Given the description of an element on the screen output the (x, y) to click on. 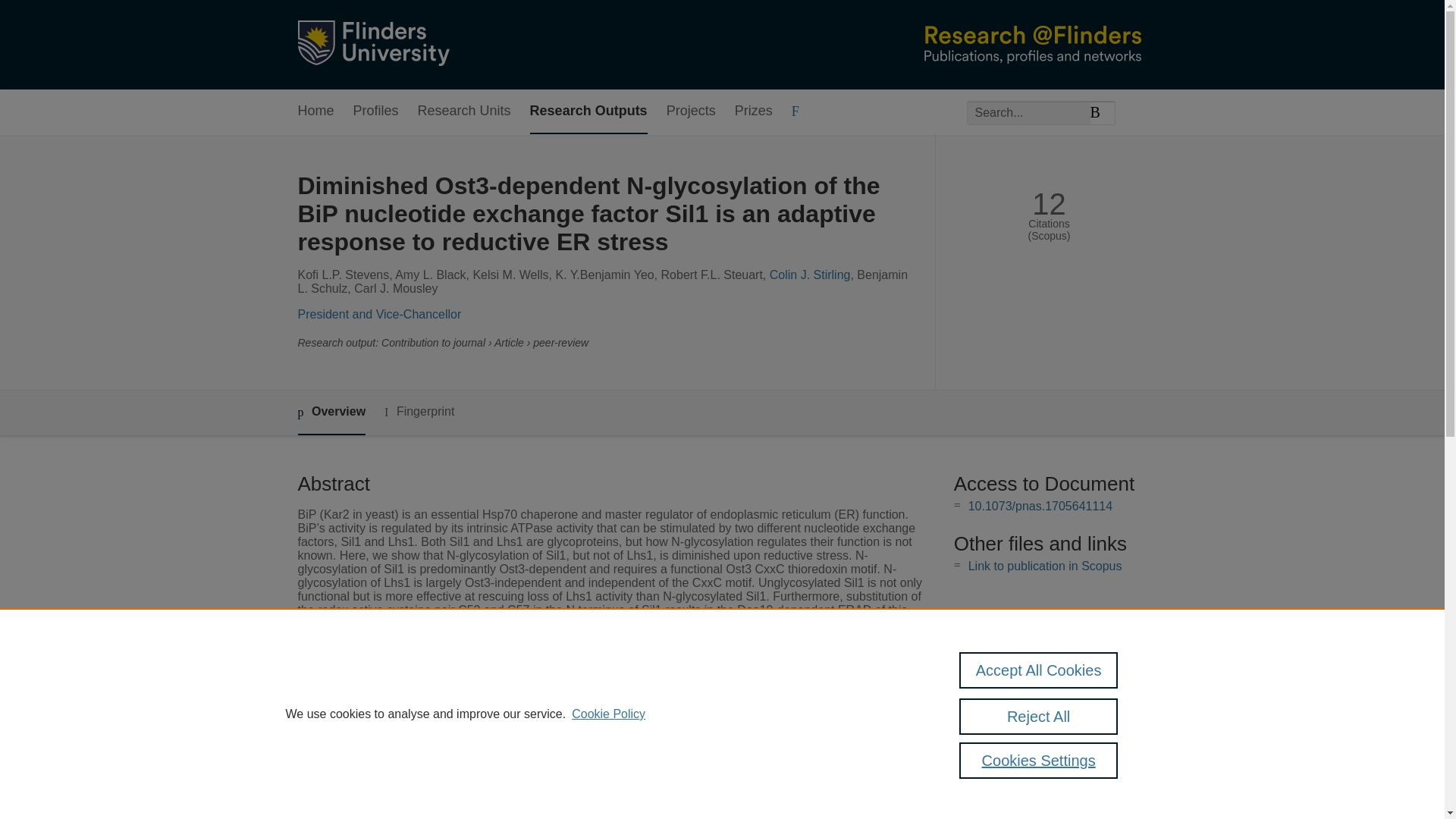
Research Outputs (588, 111)
Research Units (464, 111)
Colin J. Stirling (810, 274)
Fingerprint (419, 412)
Profiles (375, 111)
President and Vice-Chancellor (379, 314)
Link to publication in Scopus (1045, 565)
Projects (691, 111)
